Given the description of an element on the screen output the (x, y) to click on. 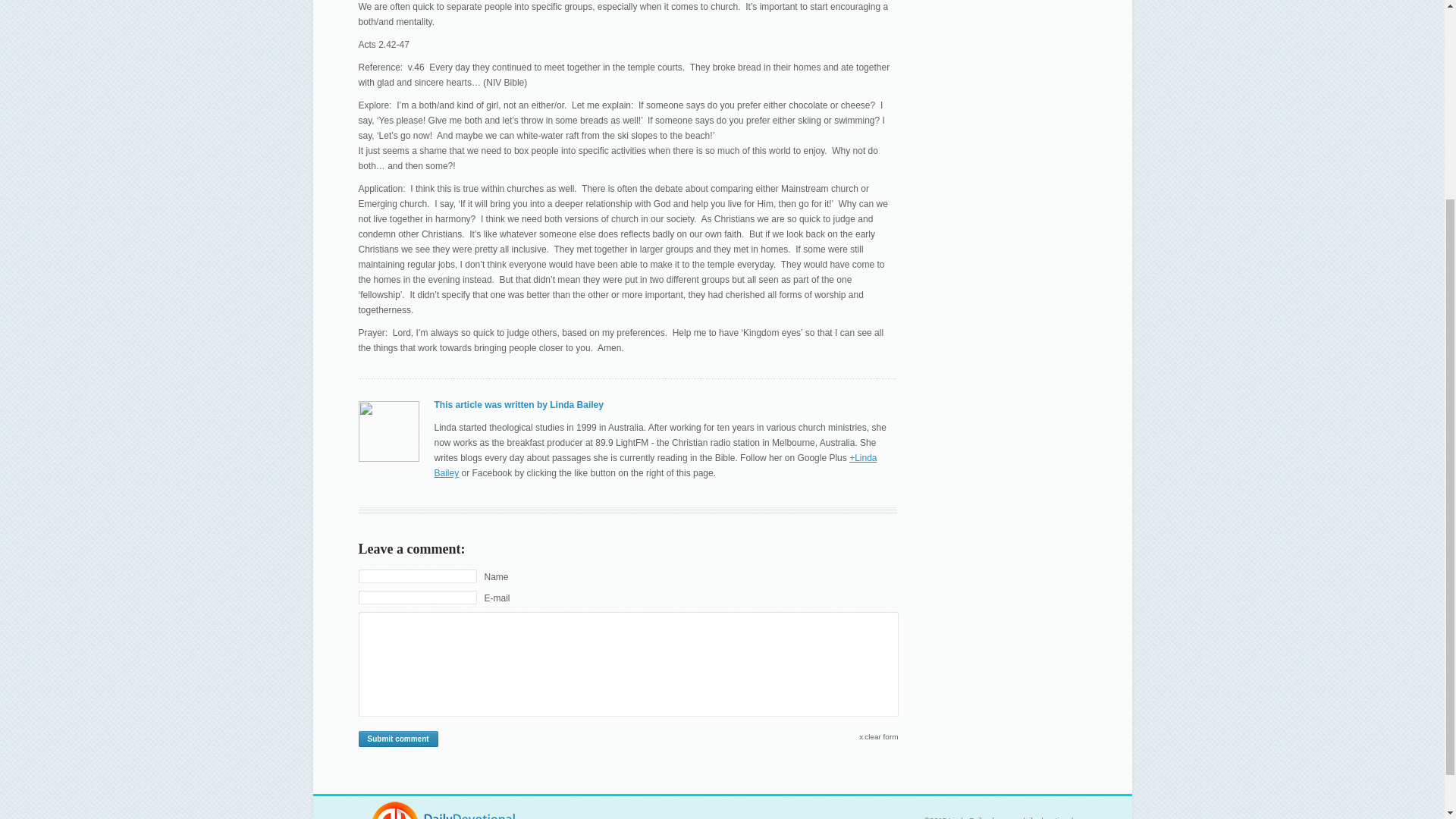
Advertisement (1021, 38)
Add comment (398, 738)
Submit comment (398, 738)
clear form (881, 736)
